Given the description of an element on the screen output the (x, y) to click on. 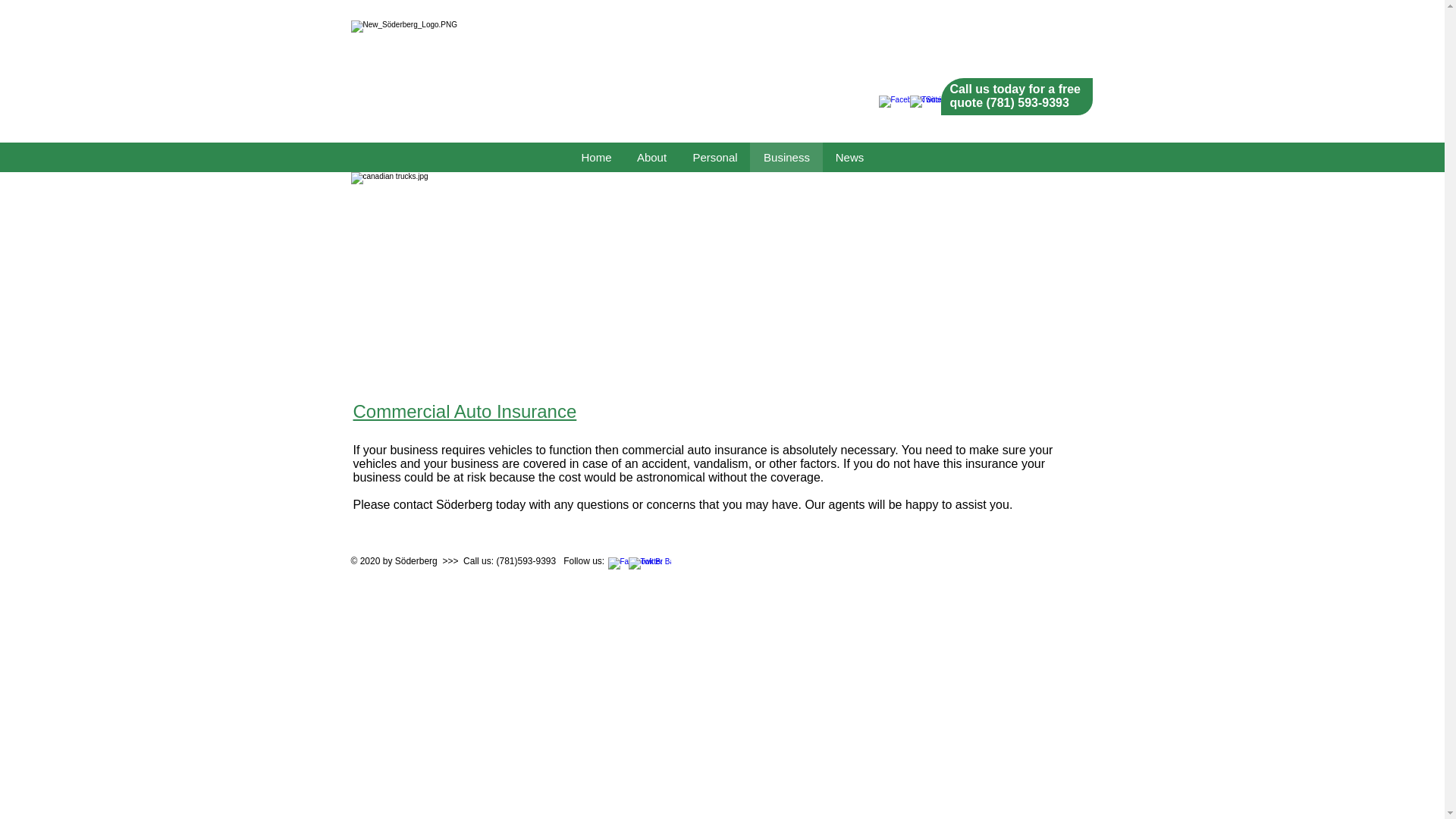
Business (785, 156)
Home (596, 156)
News (849, 156)
About (651, 156)
Personal (714, 156)
